Given the description of an element on the screen output the (x, y) to click on. 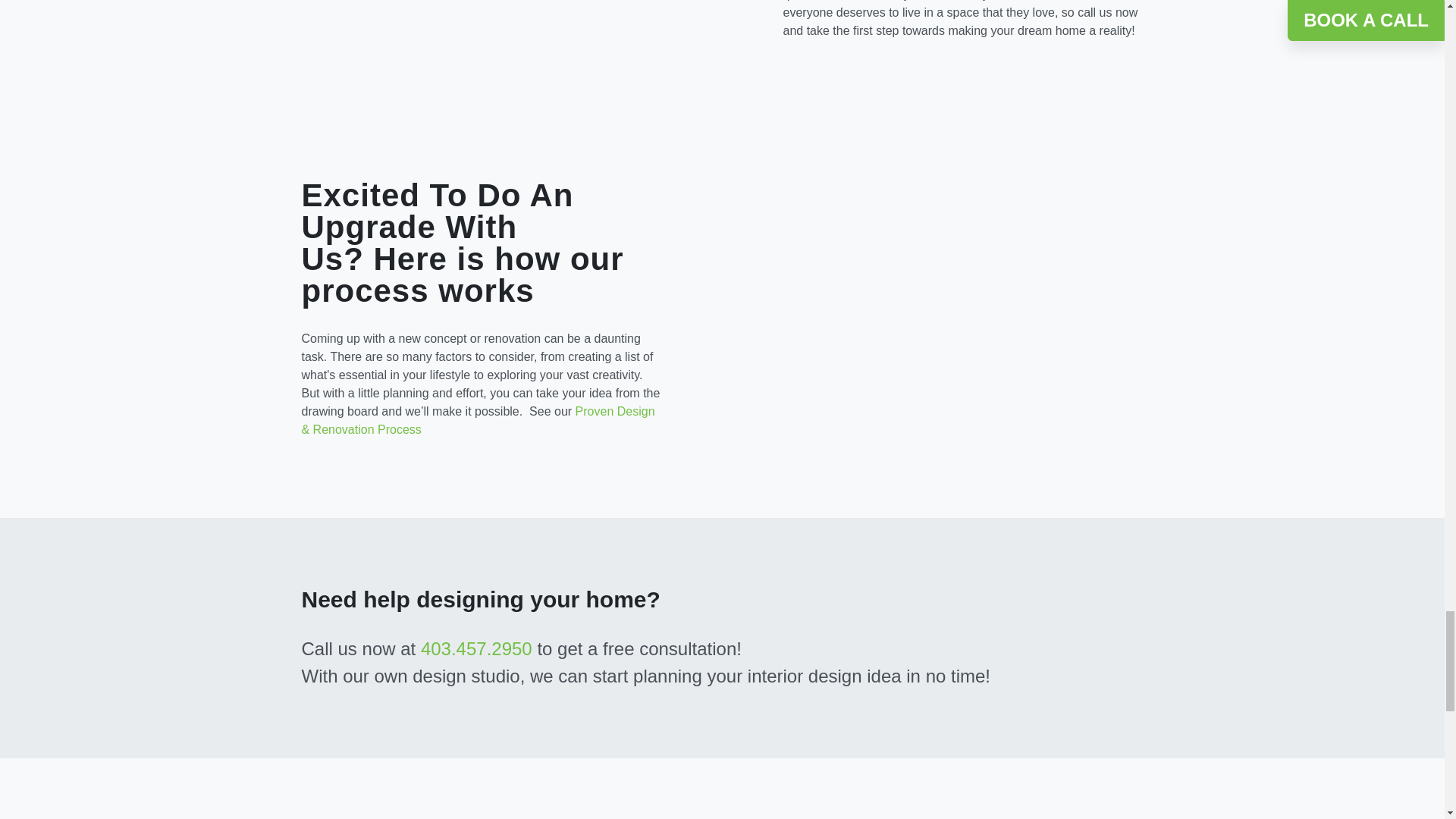
403.457.2950 (476, 648)
